Given the description of an element on the screen output the (x, y) to click on. 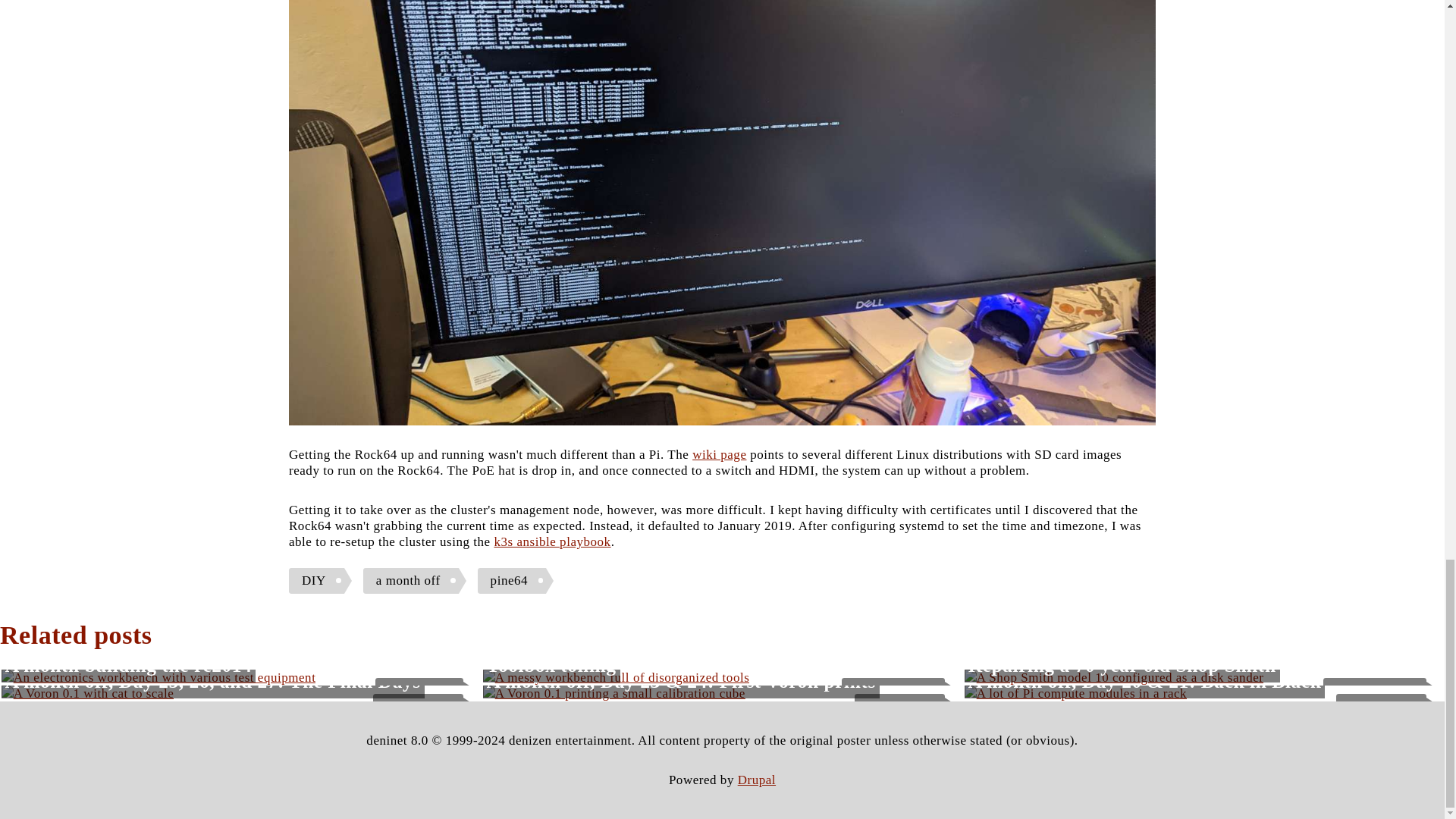
DIY (320, 580)
3D Printing (1381, 706)
A month off, Day 25, 26, and 27: The Final Days (212, 681)
Woodworking (892, 690)
A month building the rc2014 (128, 665)
pine64 (515, 580)
3D Printing (899, 706)
Repairing a 70 year old Shop Smith (1122, 665)
wiki page (719, 454)
Toolbox toiling (550, 665)
Woodworking (1374, 690)
3D Printing (418, 706)
Electronics (419, 690)
k3s ansible playbook (551, 541)
a month off (413, 580)
